Given the description of an element on the screen output the (x, y) to click on. 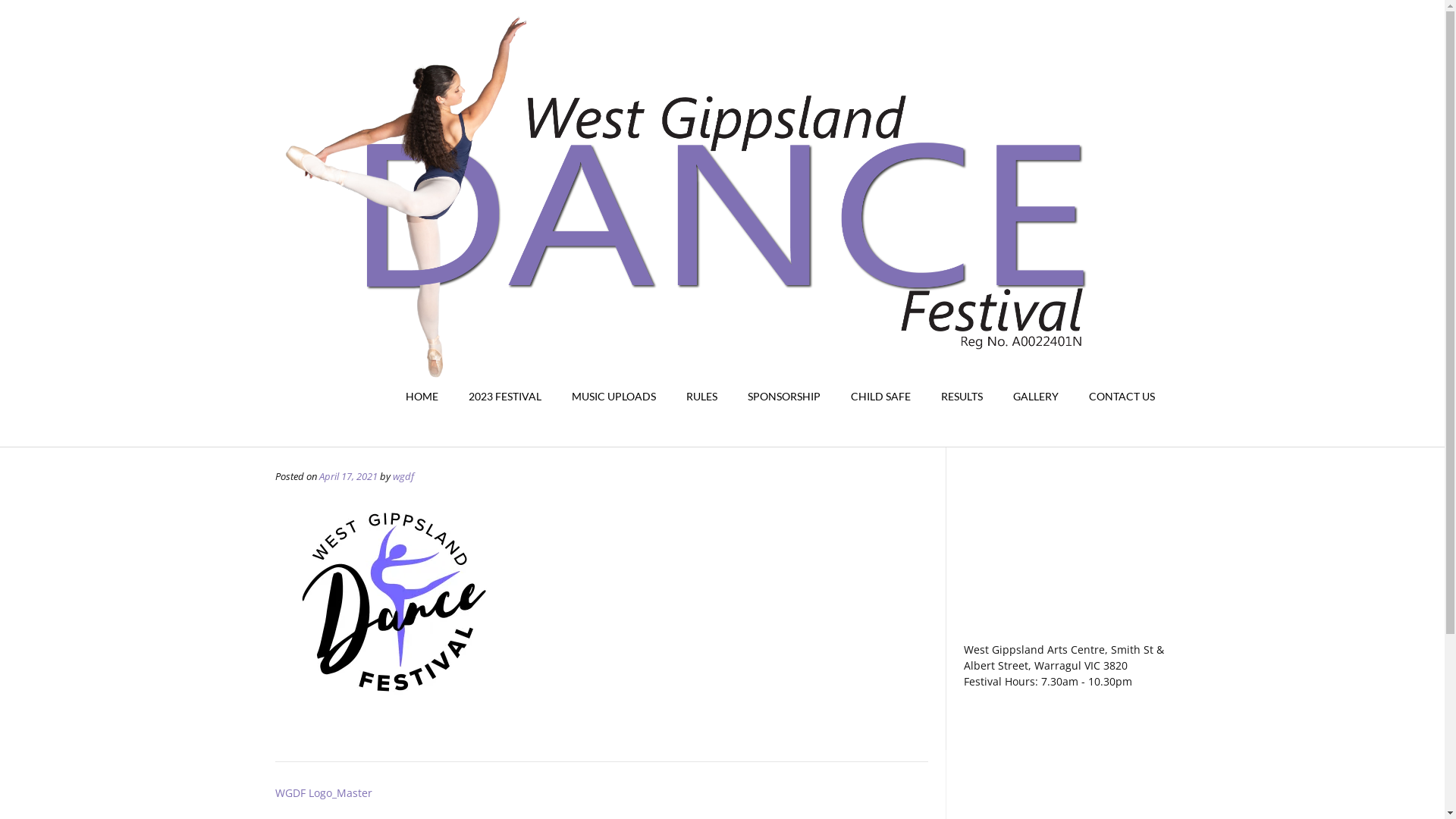
2023 FESTIVAL Element type: text (504, 396)
Google Map Embed Element type: hover (1066, 555)
West Gippsland Dance Festival Element type: hover (721, 223)
SPONSORSHIP Element type: text (783, 396)
CHILD SAFE Element type: text (880, 396)
WGDF Logo_Master Element type: text (322, 792)
CONTACT US Element type: text (1121, 396)
GALLERY Element type: text (1035, 396)
RULES Element type: text (700, 396)
April 17, 2021 Element type: text (347, 476)
wgdf Element type: text (403, 476)
MUSIC UPLOADS Element type: text (613, 396)
HOME Element type: text (420, 396)
RESULTS Element type: text (961, 396)
